Given the description of an element on the screen output the (x, y) to click on. 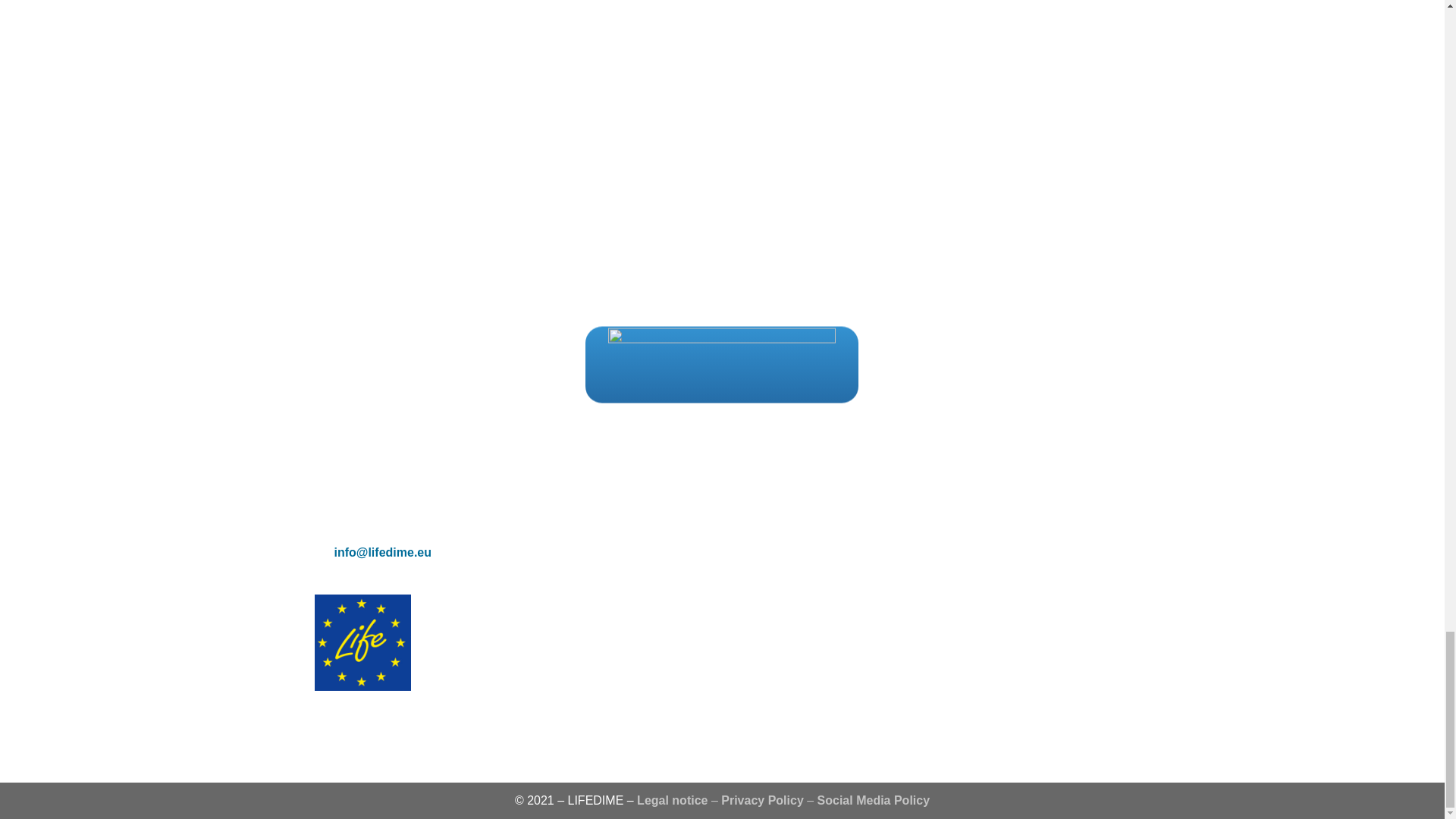
Privacy Policy (761, 799)
Legal notice (672, 799)
Social Media Policy (873, 799)
